Given the description of an element on the screen output the (x, y) to click on. 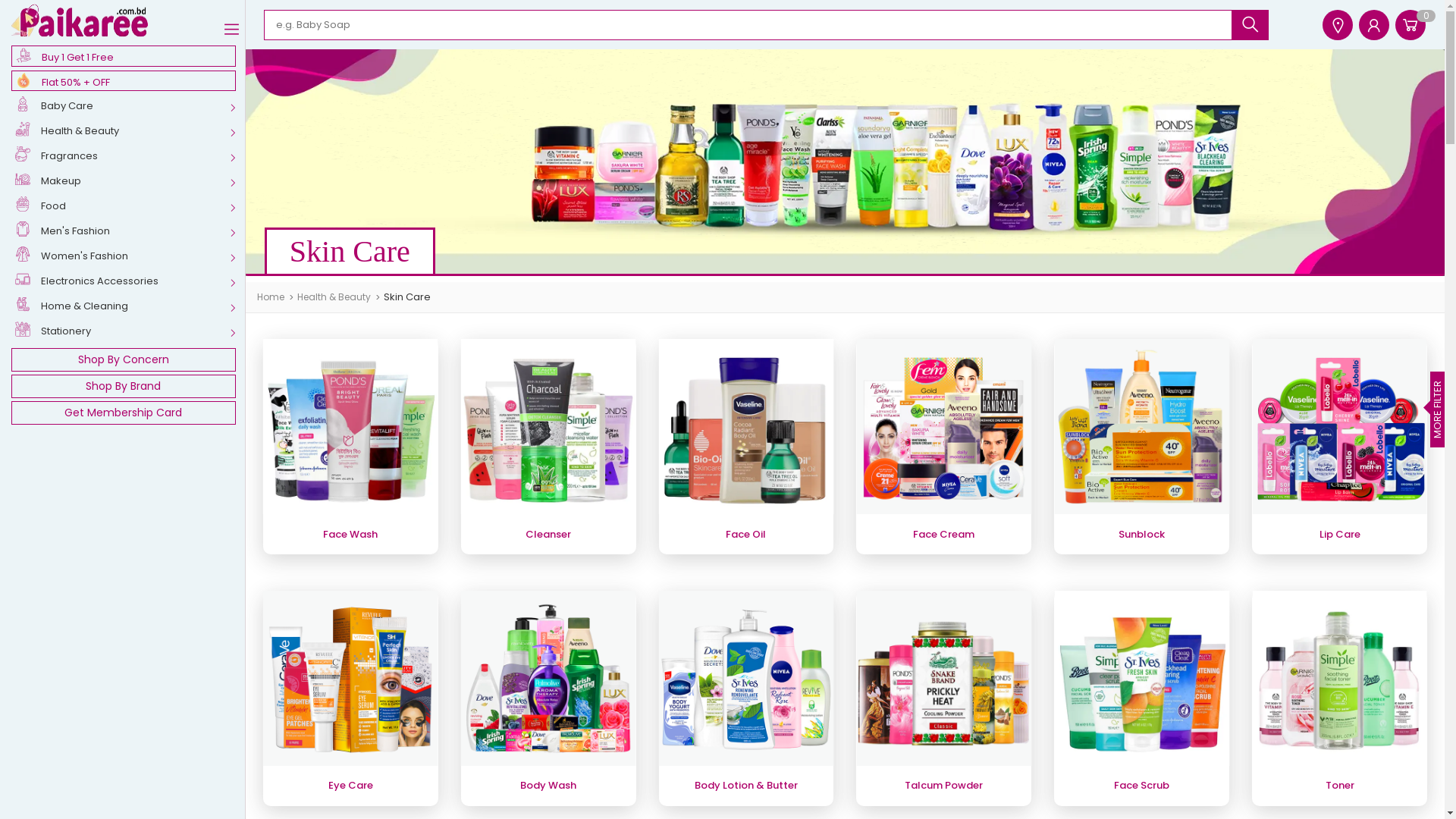
Body Lotion & Butter Element type: text (746, 698)
Home Element type: text (275, 296)
0 Element type: text (1410, 24)
Women's Fashion Element type: text (127, 256)
Face Oil Element type: text (746, 446)
Face Scrub Element type: text (1141, 698)
Sunblock Element type: text (1141, 446)
Home & Cleaning Element type: text (127, 307)
Eye Care Element type: text (350, 698)
Body Wash Element type: text (548, 698)
Baby Care Element type: text (127, 106)
Lip Care Element type: text (1339, 446)
Get Membership Card Element type: text (123, 412)
Stationery Element type: text (127, 332)
Food Element type: text (127, 206)
Shop By Brand Element type: text (123, 386)
Fragrances Element type: text (127, 156)
Buy 1 Get 1 Free Element type: text (123, 55)
Talcum Powder Element type: text (943, 698)
Health & Beauty Element type: text (127, 131)
Men's Fashion Element type: text (127, 231)
Toner Element type: text (1339, 698)
Cleanser Element type: text (548, 446)
Face Wash Element type: text (350, 446)
Electronics Accessories Element type: text (127, 281)
Face Cream Element type: text (943, 446)
Health & Beauty Element type: text (338, 296)
Flat 50% + OFF Element type: text (123, 80)
Shop By Concern Element type: text (123, 359)
Makeup Element type: text (127, 181)
